Given the description of an element on the screen output the (x, y) to click on. 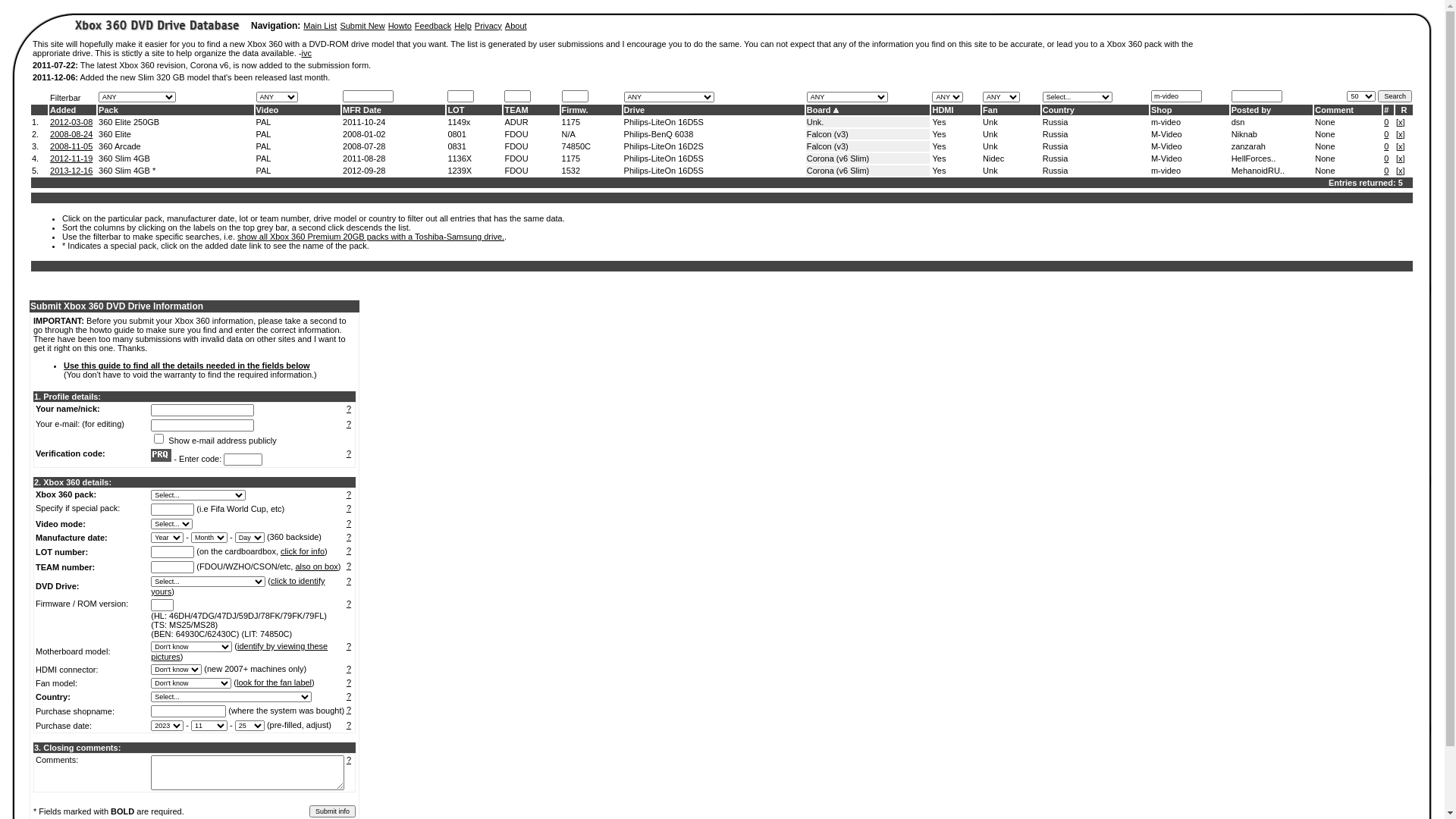
0 Element type: text (1385, 158)
Falcon (v3) Element type: text (827, 145)
Yes Element type: text (938, 121)
0 Element type: text (1385, 121)
PAL Element type: text (263, 145)
About Element type: text (516, 25)
? Element type: text (348, 493)
FDOU Element type: text (515, 158)
PAL Element type: text (263, 158)
Search Element type: text (1394, 96)
Unk Element type: text (989, 145)
Yes Element type: text (938, 158)
Howto Element type: text (399, 25)
2012-11-19 Element type: text (71, 158)
0801 Element type: text (456, 133)
Russia Element type: text (1055, 133)
Pack Element type: text (108, 109)
Nidec Element type: text (993, 158)
click for info Element type: text (302, 550)
? Element type: text (348, 724)
0 Element type: text (1385, 133)
x Element type: text (1400, 121)
1149x Element type: text (458, 121)
? Element type: text (348, 695)
Philips-LiteOn 16D2S Element type: text (663, 145)
LOT Element type: text (455, 109)
2008-01-02 Element type: text (363, 133)
? Element type: text (348, 536)
x Element type: text (1400, 170)
? Element type: text (348, 580)
360 Elite Element type: text (114, 133)
Corona (v6 Slim) Element type: text (837, 170)
PAL Element type: text (263, 121)
m-video Element type: text (1165, 170)
Fan Element type: text (989, 109)
Video Element type: text (267, 109)
click to identify yours Element type: text (237, 586)
Shop Element type: text (1161, 109)
0831 Element type: text (456, 145)
look for the fan label Element type: text (273, 682)
? Element type: text (348, 453)
zanzarah Element type: text (1248, 145)
FDOU Element type: text (515, 133)
0 Element type: text (1385, 170)
360 Slim 4GB * Element type: text (126, 170)
identify by viewing these pictures Element type: text (238, 651)
1239X Element type: text (459, 170)
Firmw. Element type: text (574, 109)
TEAM Element type: text (515, 109)
MFR Date Element type: text (361, 109)
Falcon (v3) Element type: text (827, 133)
Unk Element type: text (989, 133)
Main List Element type: text (319, 25)
Unk Element type: text (989, 170)
also on box Element type: text (316, 566)
m-video Element type: text (1165, 121)
x Element type: text (1400, 158)
Country Element type: text (1058, 109)
2008-11-05 Element type: text (71, 145)
M-Video Element type: text (1166, 158)
MehanoidRU.. Element type: text (1257, 170)
360 Slim 4GB Element type: text (124, 158)
Philips-LiteOn 16D5S Element type: text (663, 170)
PAL Element type: text (263, 133)
Philips-BenQ 6038 Element type: text (658, 133)
? Element type: text (348, 668)
Yes Element type: text (938, 145)
1175 Element type: text (570, 158)
HDMI Element type: text (942, 109)
? Element type: text (348, 603)
360 Elite 250GB Element type: text (128, 121)
? Element type: text (348, 522)
FDOU Element type: text (515, 170)
1175 Element type: text (570, 121)
? Element type: text (348, 682)
Feedback Element type: text (432, 25)
Submit New Element type: text (361, 25)
Russia Element type: text (1055, 121)
x Element type: text (1400, 133)
? Element type: text (348, 408)
2013-12-16 Element type: text (71, 170)
PAL Element type: text (263, 170)
Posted by Element type: text (1251, 109)
360 Arcade Element type: text (119, 145)
M-Video Element type: text (1166, 133)
Unk Element type: text (989, 121)
2008-08-24 Element type: text (71, 133)
Submit info Element type: text (332, 811)
Philips-LiteOn 16D5S Element type: text (663, 121)
0 Element type: text (1385, 145)
1532 Element type: text (570, 170)
? Element type: text (348, 709)
M-Video Element type: text (1166, 145)
Russia Element type: text (1055, 170)
? Element type: text (348, 550)
2012-03-08 Element type: text (71, 121)
2011-08-28 Element type: text (363, 158)
Niknab Element type: text (1244, 133)
Corona (v6 Slim) Element type: text (837, 158)
Russia Element type: text (1055, 158)
? Element type: text (348, 423)
1136X Element type: text (459, 158)
? Element type: text (348, 507)
Russia Element type: text (1055, 145)
Privacy Element type: text (488, 25)
Yes Element type: text (938, 133)
2011-10-24 Element type: text (363, 121)
x Element type: text (1400, 145)
? Element type: text (348, 759)
Help Element type: text (462, 25)
N/A Element type: text (568, 133)
Added Element type: text (62, 109)
ivc Element type: text (305, 52)
FDOU Element type: text (515, 145)
Board Element type: text (818, 109)
Yes Element type: text (938, 170)
Unk. Element type: text (815, 121)
Drive Element type: text (634, 109)
2012-09-28 Element type: text (363, 170)
Philips-LiteOn 16D5S Element type: text (663, 158)
74850C Element type: text (576, 145)
HellForces.. Element type: text (1253, 158)
2008-07-28 Element type: text (363, 145)
? Element type: text (348, 565)
? Element type: text (348, 645)
ADUR Element type: text (515, 121)
dsn Element type: text (1238, 121)
